Given the description of an element on the screen output the (x, y) to click on. 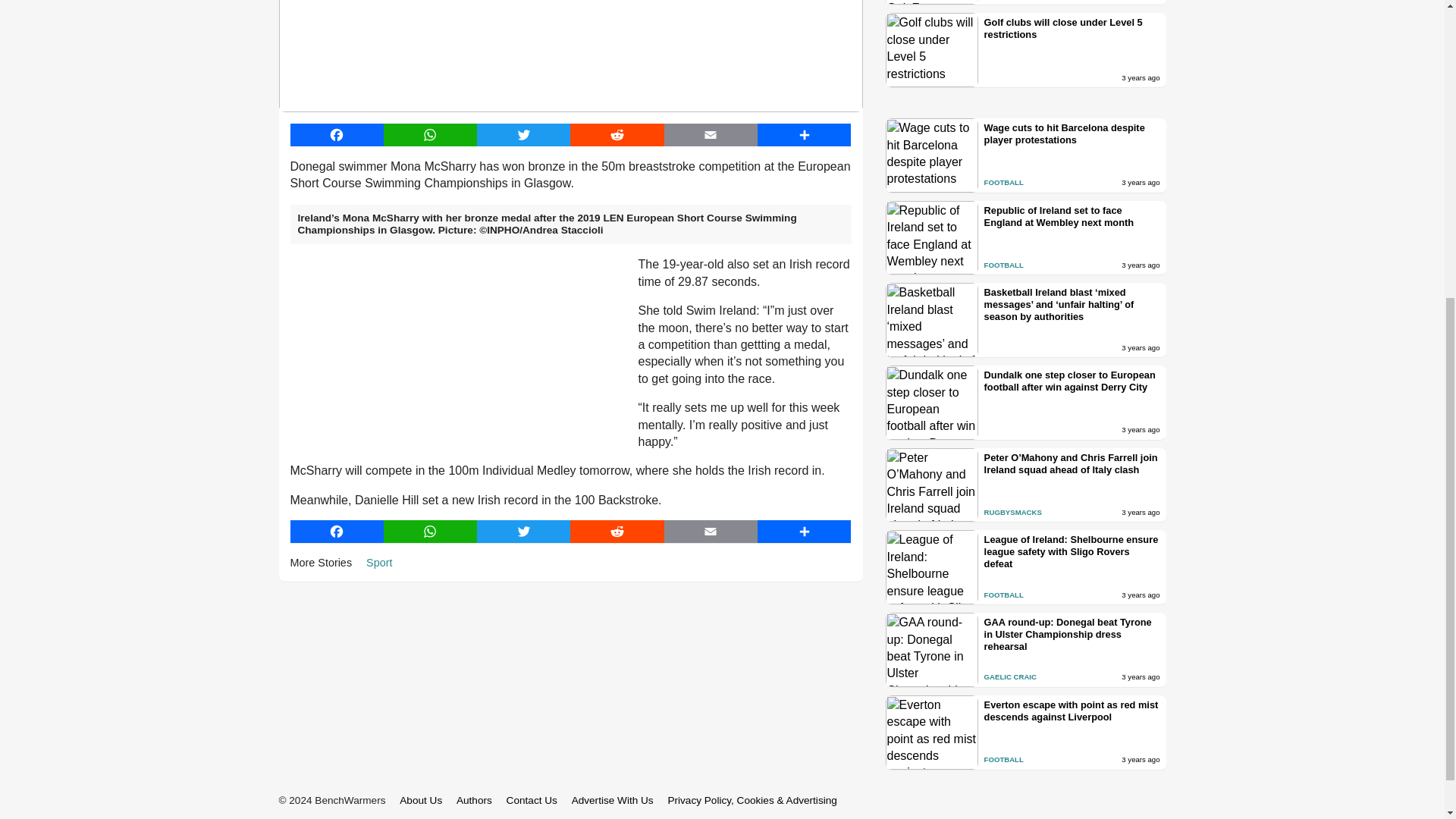
Reddit (616, 134)
Facebook (335, 531)
Twitter (523, 134)
Twitter (523, 134)
Share (803, 134)
Reddit (616, 531)
Email (710, 531)
WhatsApp (430, 134)
Email (710, 134)
Share (803, 531)
FOOTBALL (1003, 182)
Twitter (523, 531)
Golf clubs will close under Level 5 restrictions (1072, 28)
